Given the description of an element on the screen output the (x, y) to click on. 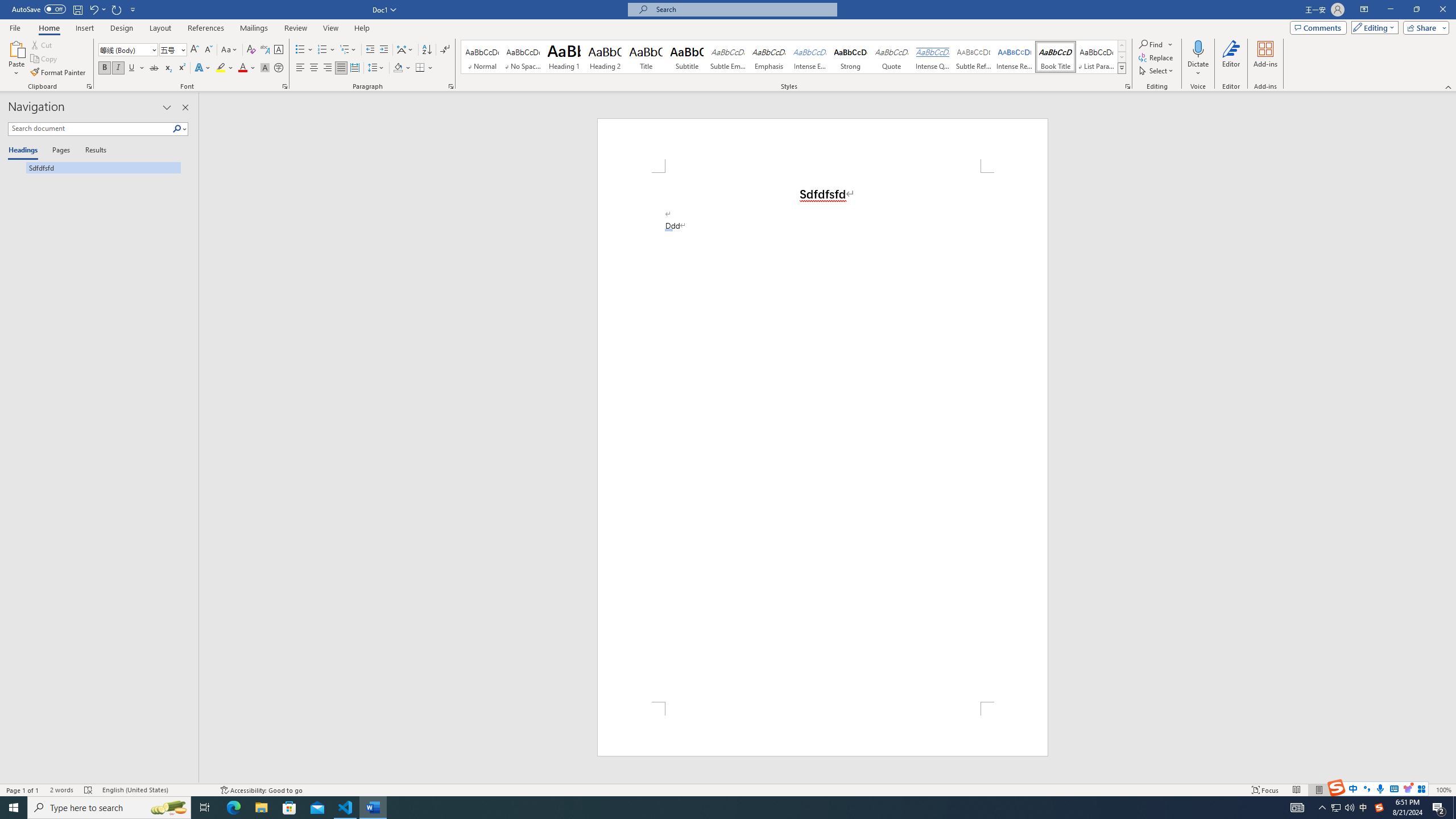
Format Painter (58, 72)
Shading RGB(0, 0, 0) (397, 67)
Dictate (1197, 48)
Increase Indent (383, 49)
Home (48, 28)
Book Title (1055, 56)
Read Mode (1296, 790)
Zoom 100% (1443, 790)
Row up (1121, 45)
Bold (104, 67)
Enclose Characters... (278, 67)
Zoom In (1426, 790)
Pages (59, 150)
Font Size (169, 49)
